Given the description of an element on the screen output the (x, y) to click on. 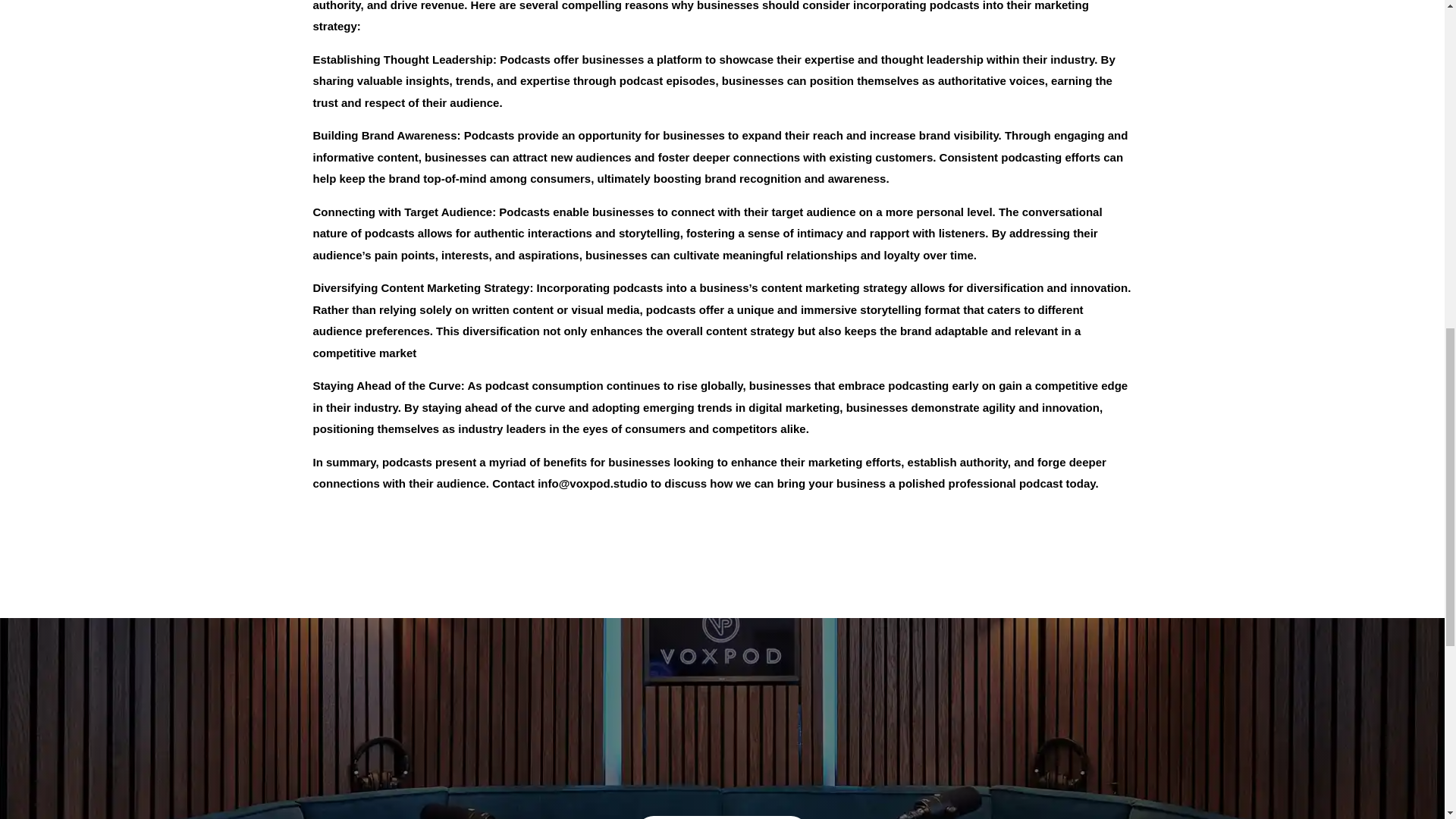
VOXPOD Podcast Studios London (713, 736)
